Given the description of an element on the screen output the (x, y) to click on. 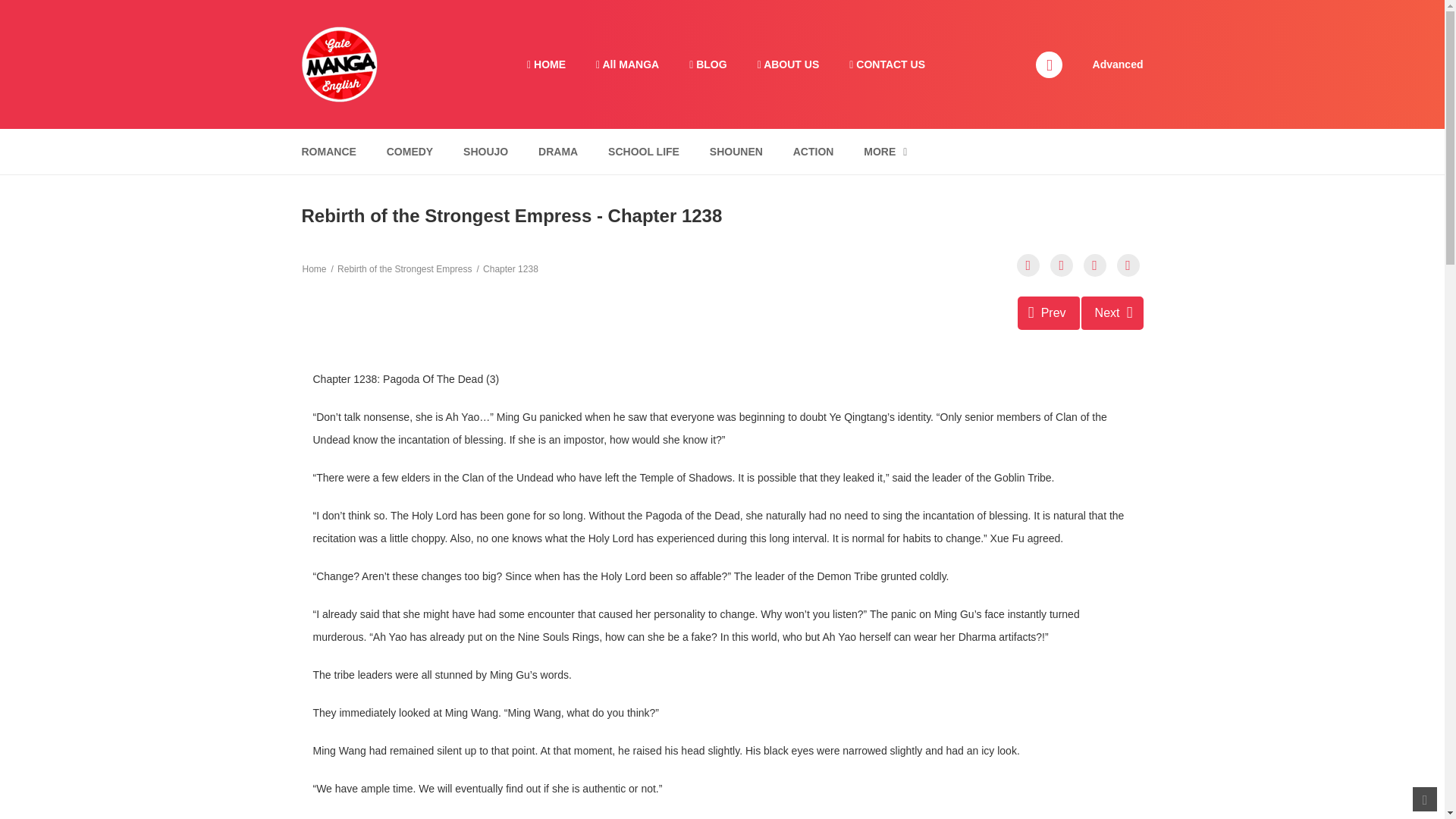
MORE (1111, 313)
SCHOOL LIFE (885, 151)
DRAMA (643, 151)
Search (558, 151)
COMEDY (970, 9)
SHOUNEN (409, 151)
ROMANCE (736, 151)
ACTION (328, 151)
Bookmark (813, 151)
SHOUJO (1094, 264)
ABOUT US (1048, 313)
CONTACT US (485, 151)
HOME (788, 64)
